Given the description of an element on the screen output the (x, y) to click on. 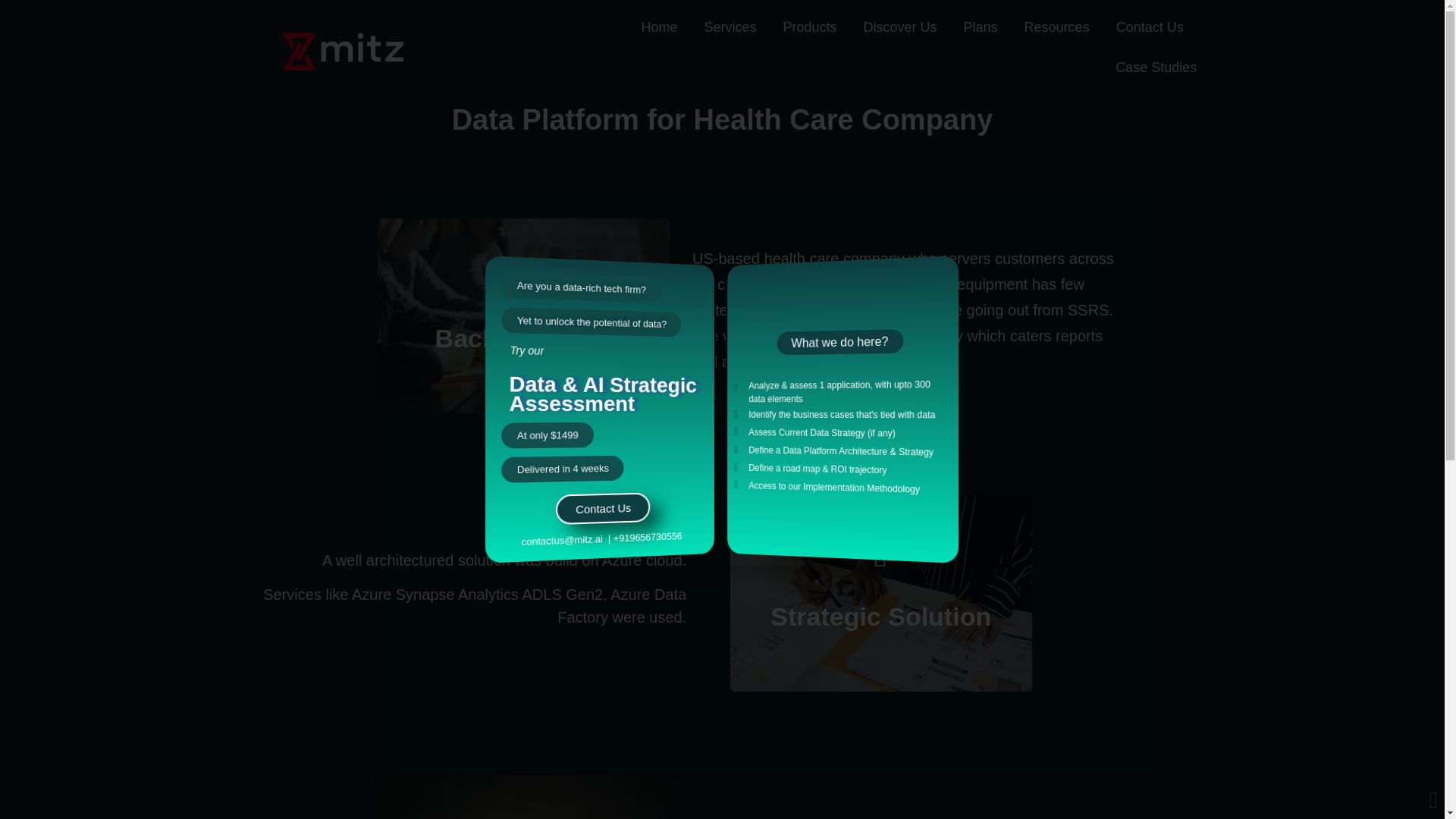
Discover Us (900, 27)
Contact Us (1149, 27)
Case Studies (1155, 67)
Home (658, 27)
Products (809, 27)
Resources (1057, 27)
Services (729, 27)
